Given the description of an element on the screen output the (x, y) to click on. 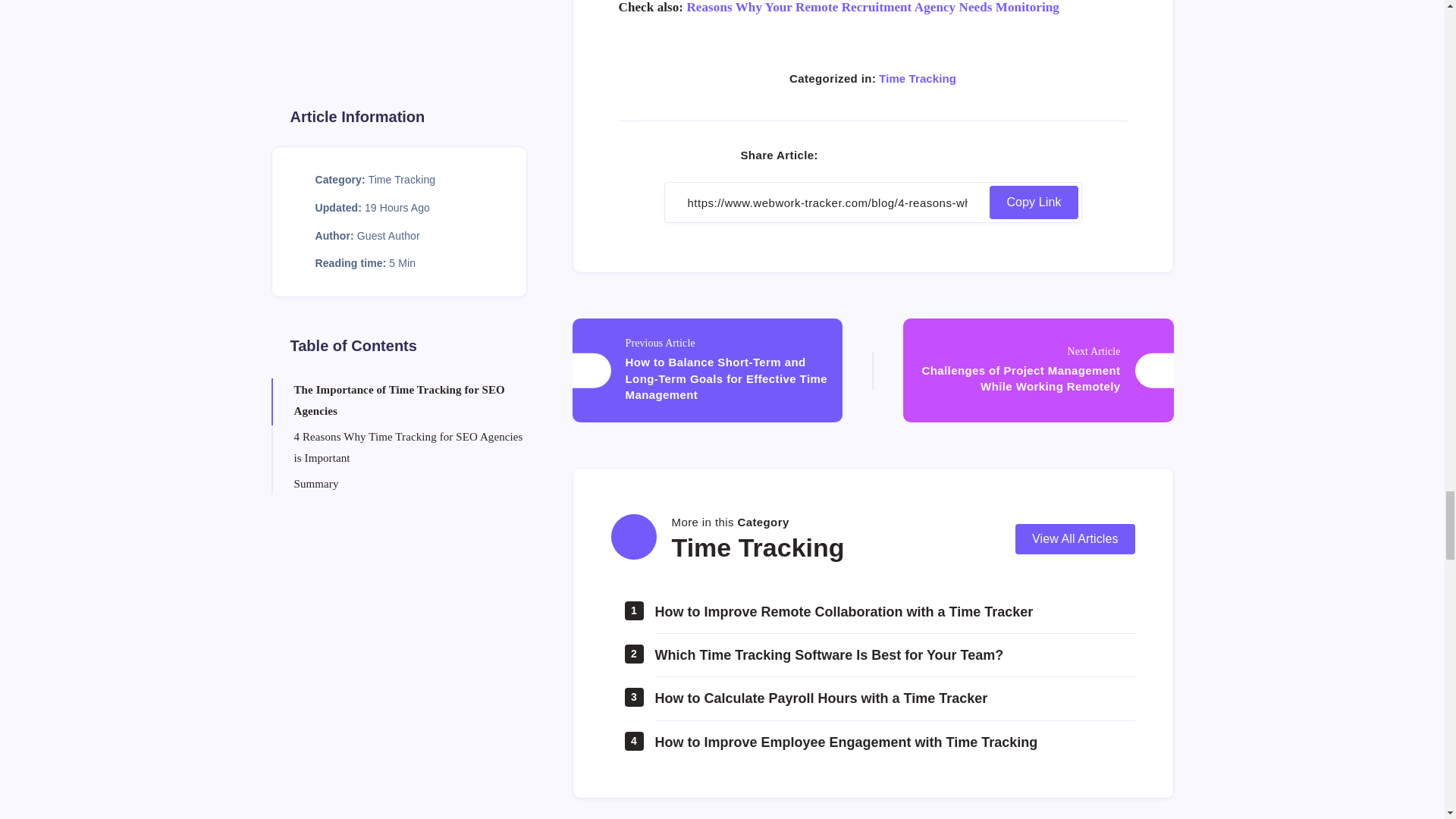
Time Tracking (917, 78)
Share on Facebook (839, 155)
Share on Twitter (869, 155)
Reasons Why Your Remote Recruitment Agency Needs Monitoring (871, 7)
Share on Linkedin (899, 155)
